Given the description of an element on the screen output the (x, y) to click on. 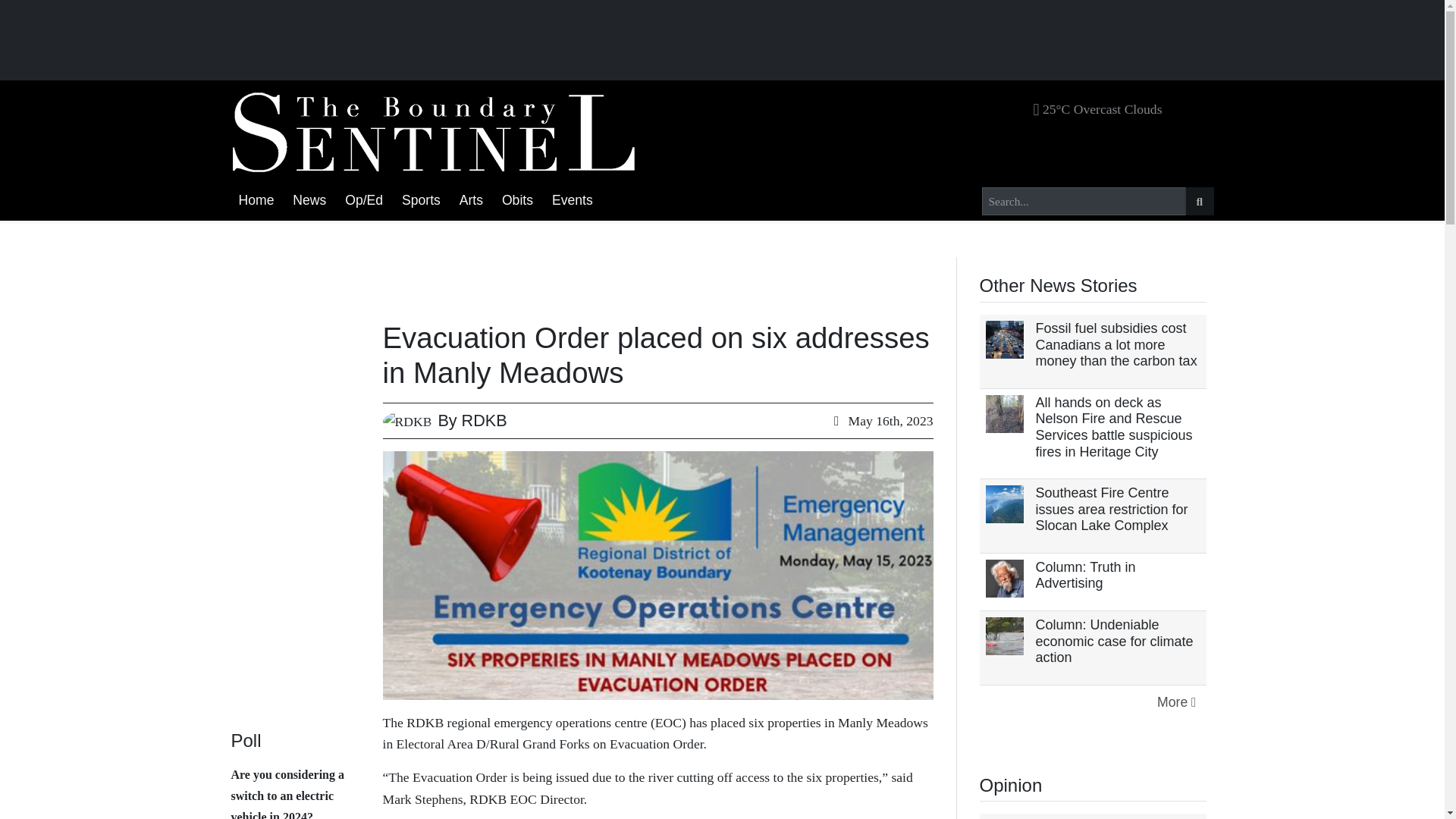
Column: Truth in Advertising (1085, 575)
Events (571, 200)
Obits (517, 200)
Arts (470, 200)
Home (255, 200)
Sports (421, 200)
News (309, 200)
